Given the description of an element on the screen output the (x, y) to click on. 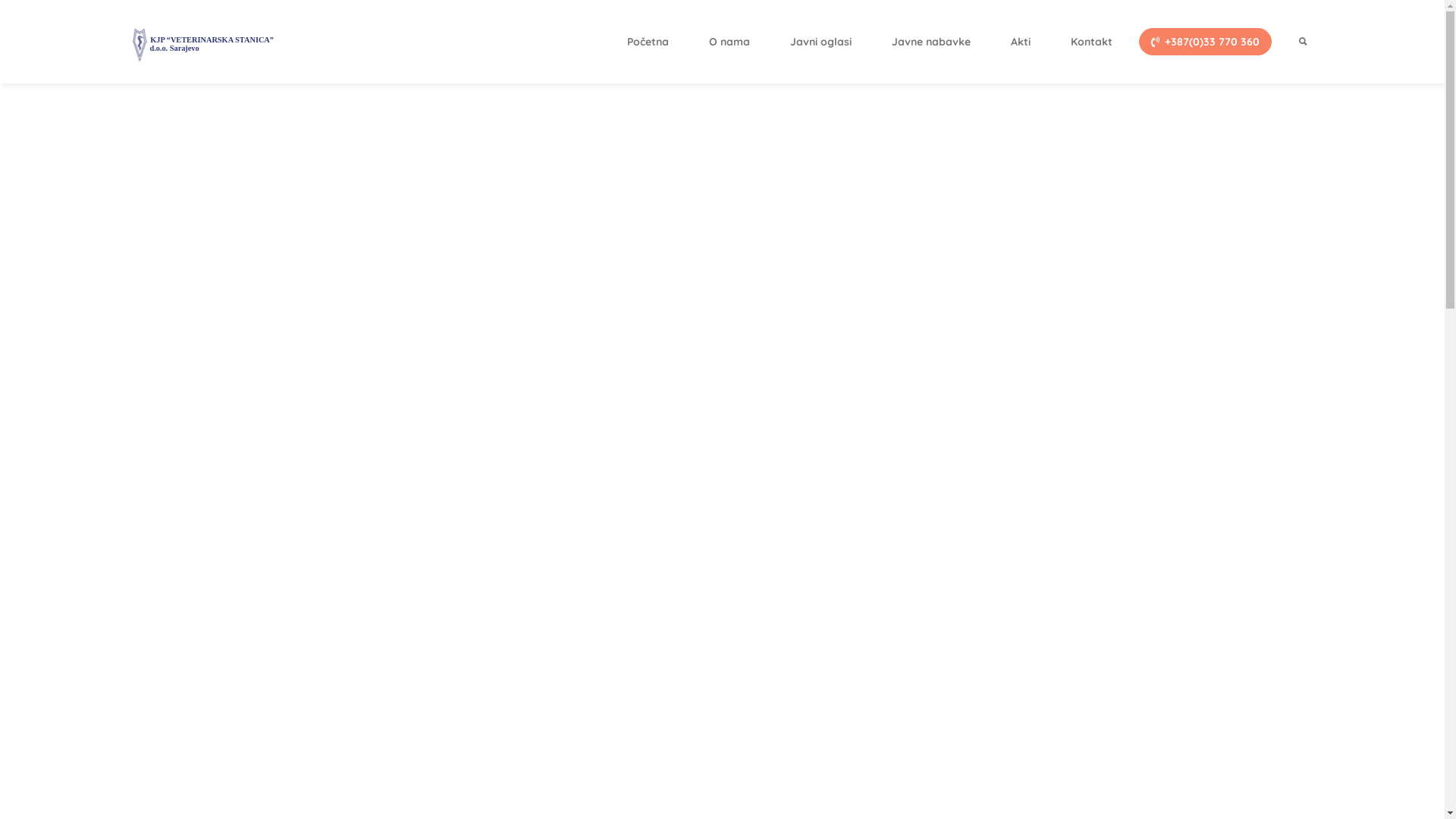
Javni oglasi Element type: text (820, 41)
O nama Element type: text (729, 41)
+387(0)33 770 360 Element type: text (1205, 41)
Javne nabavke Element type: text (931, 41)
Akti Element type: text (1020, 41)
Kontakt Element type: text (1091, 41)
